Given the description of an element on the screen output the (x, y) to click on. 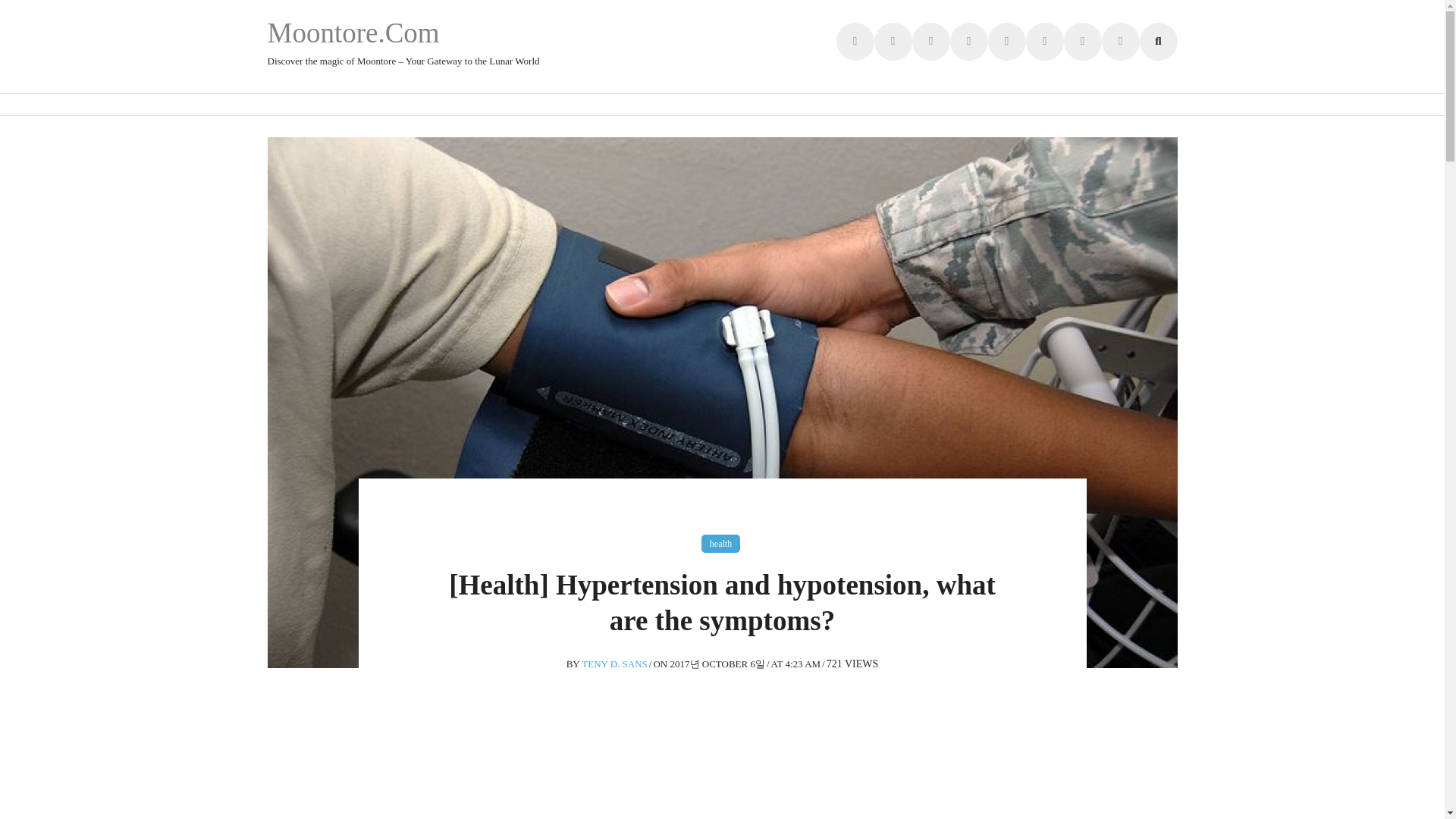
Moontore.com (352, 32)
health (720, 543)
Moontore.Com (352, 32)
Advertisement (1063, 784)
TENY D. SANS (613, 663)
Advertisement (592, 789)
Posts by Teny D. Sans (613, 663)
